Given the description of an element on the screen output the (x, y) to click on. 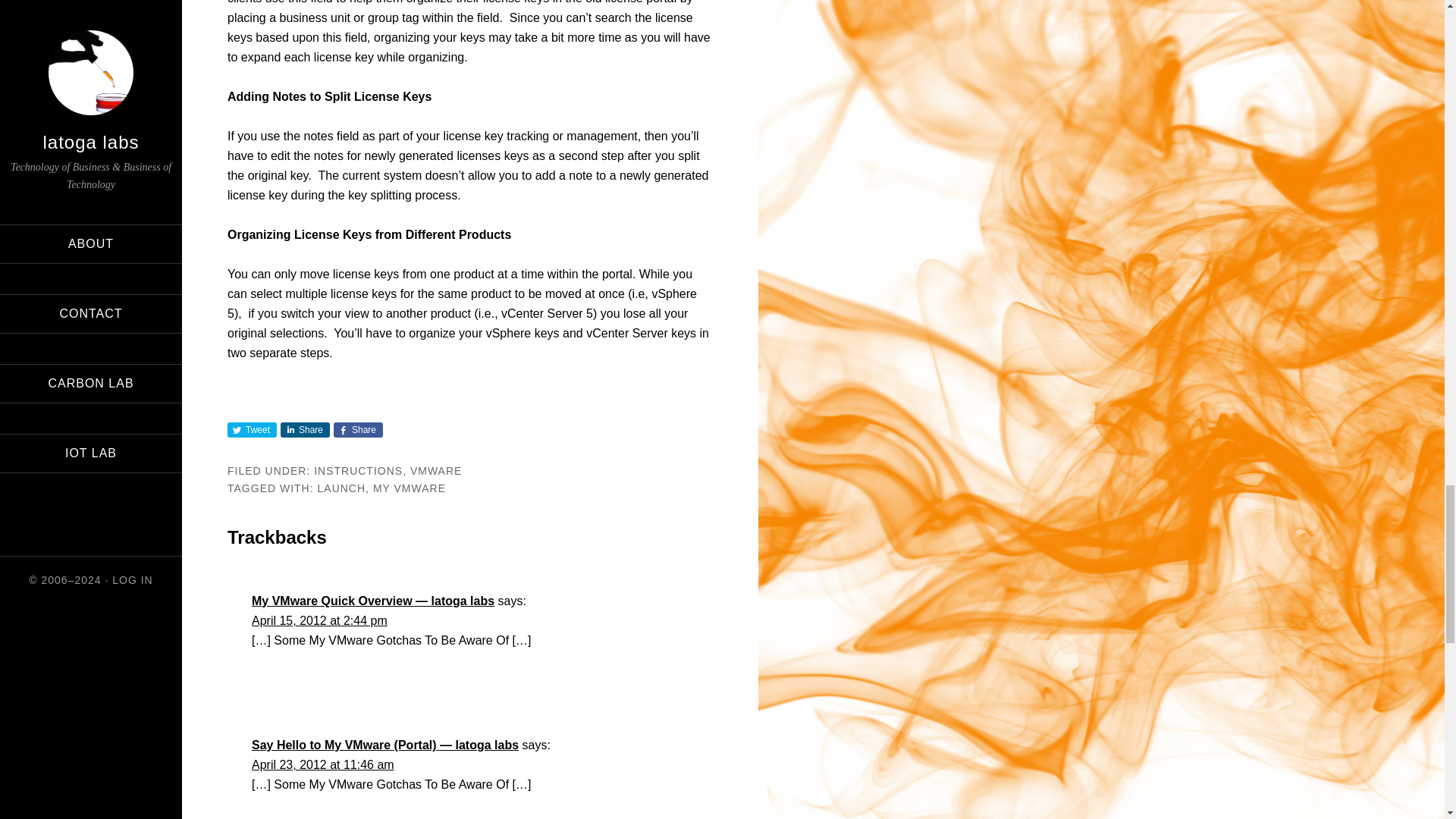
MY VMWARE (408, 488)
April 15, 2012 at 2:44 pm (319, 620)
VMWARE (435, 470)
LAUNCH (341, 488)
April 23, 2012 at 11:46 am (322, 764)
Share (357, 429)
Tweet (251, 429)
INSTRUCTIONS (358, 470)
Share (305, 429)
